Given the description of an element on the screen output the (x, y) to click on. 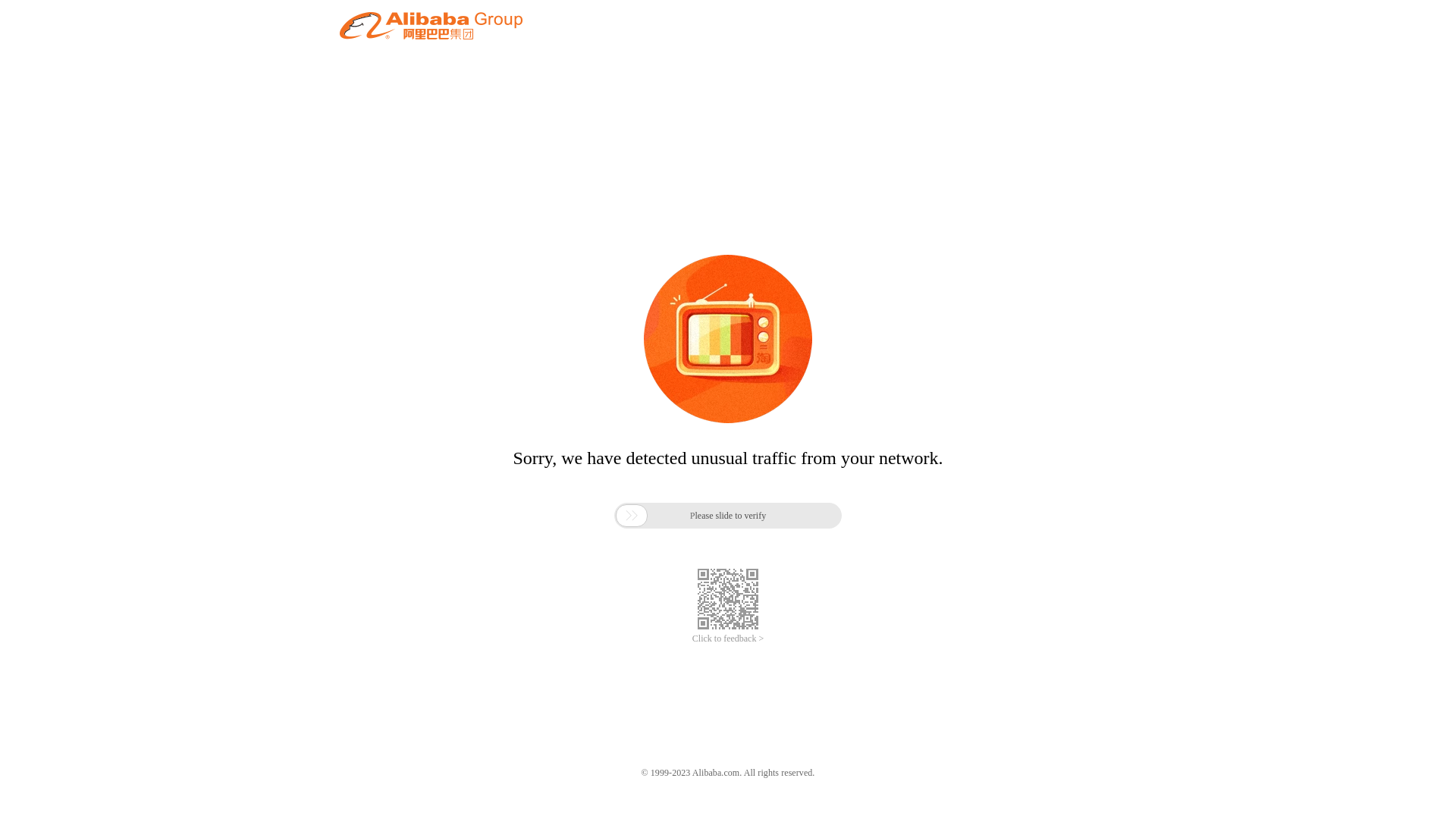
Click to feedback > Element type: text (727, 638)
